Given the description of an element on the screen output the (x, y) to click on. 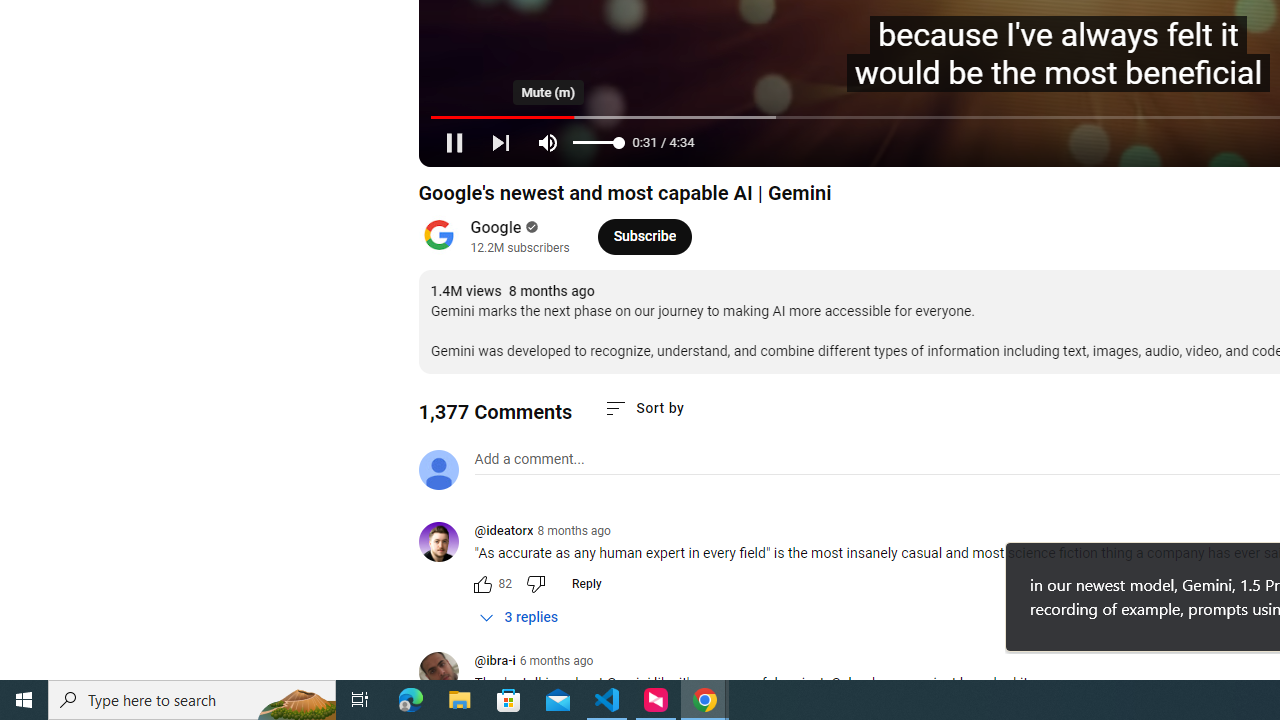
3 replies (518, 617)
@ibra-i (446, 673)
Sort comments (644, 408)
Reply (586, 583)
Like this comment along with 82 other people (482, 583)
Default profile photo (438, 470)
@ideatorx (503, 532)
Google (496, 227)
Play (k) (453, 142)
Verified (530, 227)
@ibra-i (494, 661)
Mute keyboard shortcut m (548, 142)
Volume (598, 142)
